Given the description of an element on the screen output the (x, y) to click on. 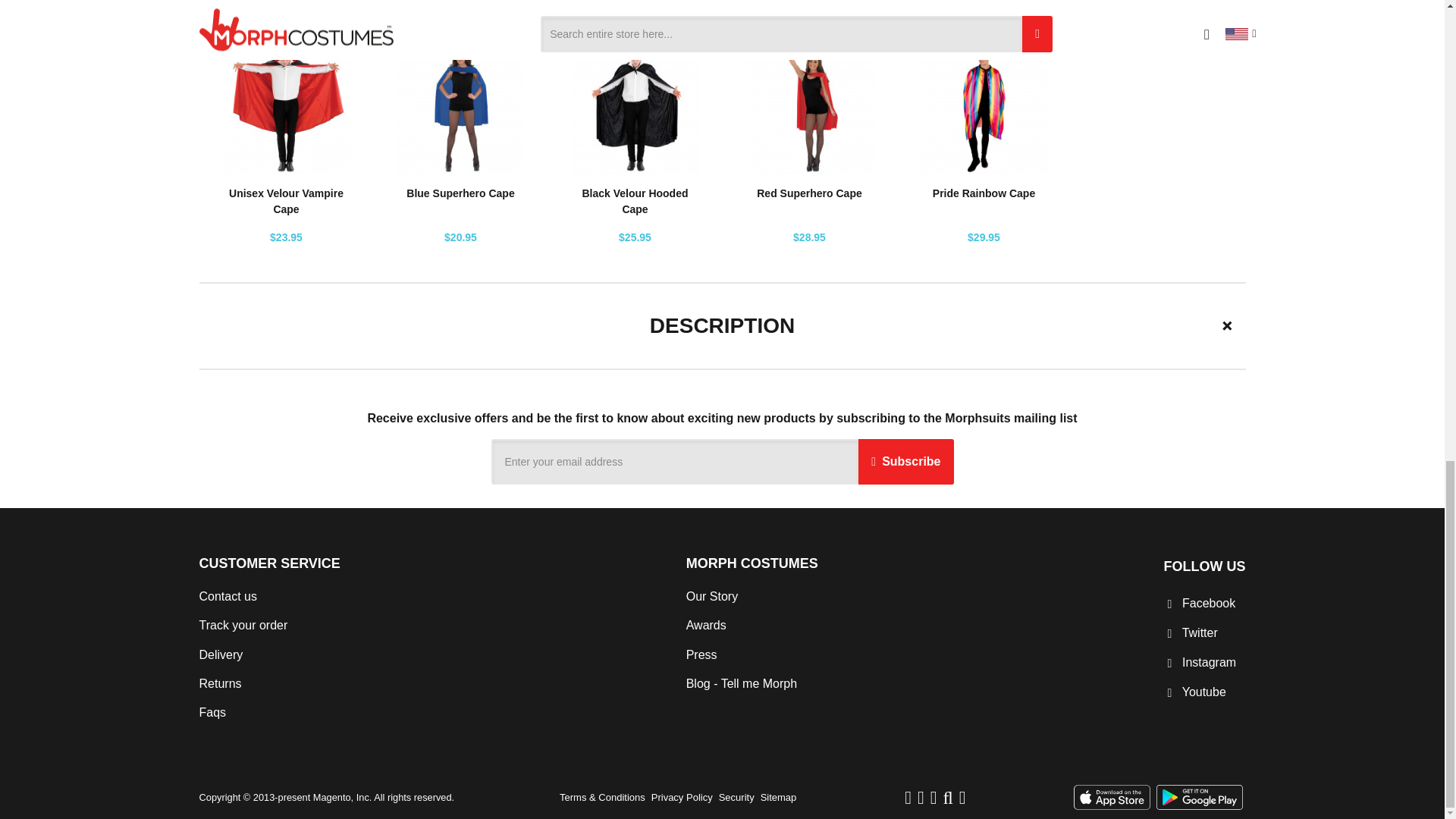
Unisex Velour Vampire Cape (285, 201)
Red Superhero Cape (809, 193)
Subscribe (906, 461)
Black Velour Hooded Cape (633, 201)
Pride Rainbow Cape (984, 193)
Blue Superhero Cape (459, 193)
